Given the description of an element on the screen output the (x, y) to click on. 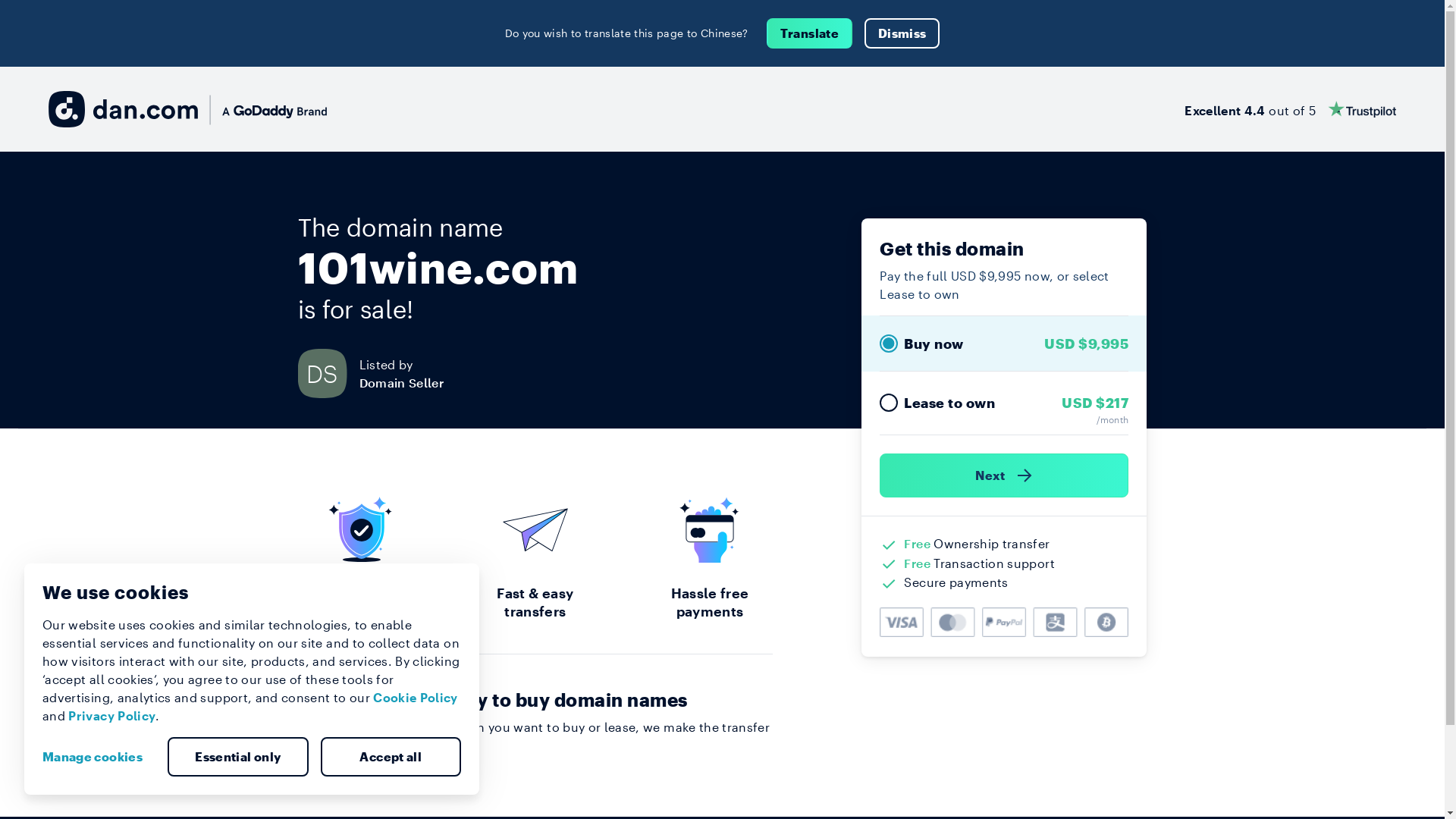
Next
) Element type: text (1003, 475)
Translate Element type: text (809, 33)
Privacy Policy Element type: text (111, 715)
Cookie Policy Element type: text (415, 697)
Essential only Element type: text (237, 756)
Excellent 4.4 out of 5 Element type: text (1290, 109)
Accept all Element type: text (390, 756)
Manage cookies Element type: text (98, 756)
Dismiss Element type: text (901, 33)
